Given the description of an element on the screen output the (x, y) to click on. 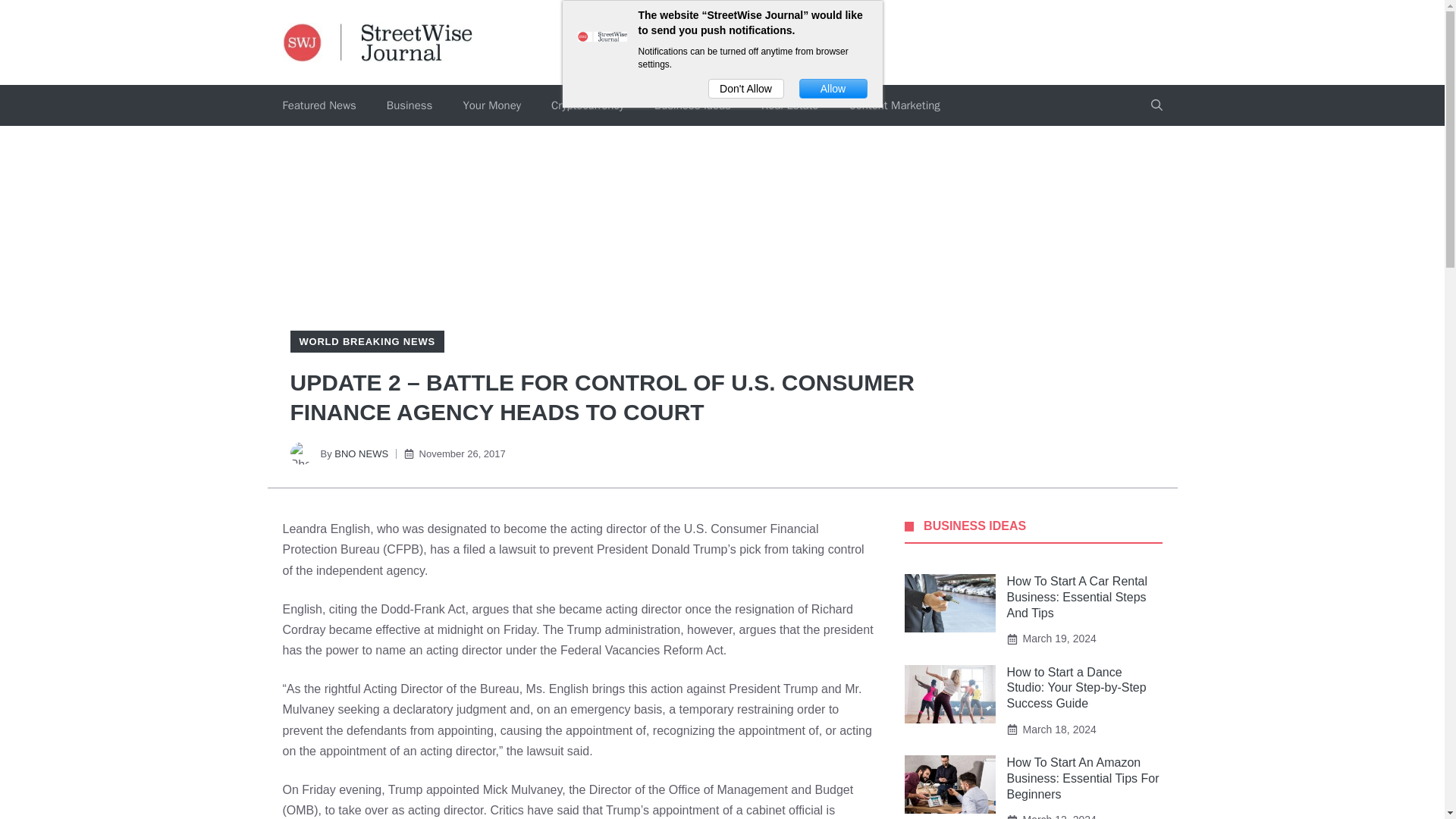
Real Estate (788, 105)
BNO NEWS (361, 453)
WORLD BREAKING NEWS (365, 341)
Content Marketing (893, 105)
How to Start a Dance Studio: Your Step-by-Step Success Guide (1077, 687)
Business Ideas (692, 105)
Your Money (490, 105)
Featured News (318, 105)
Cryptocurrency (587, 105)
Business (409, 105)
How To Start A Car Rental Business: Essential Steps And Tips (1077, 596)
